Given the description of an element on the screen output the (x, y) to click on. 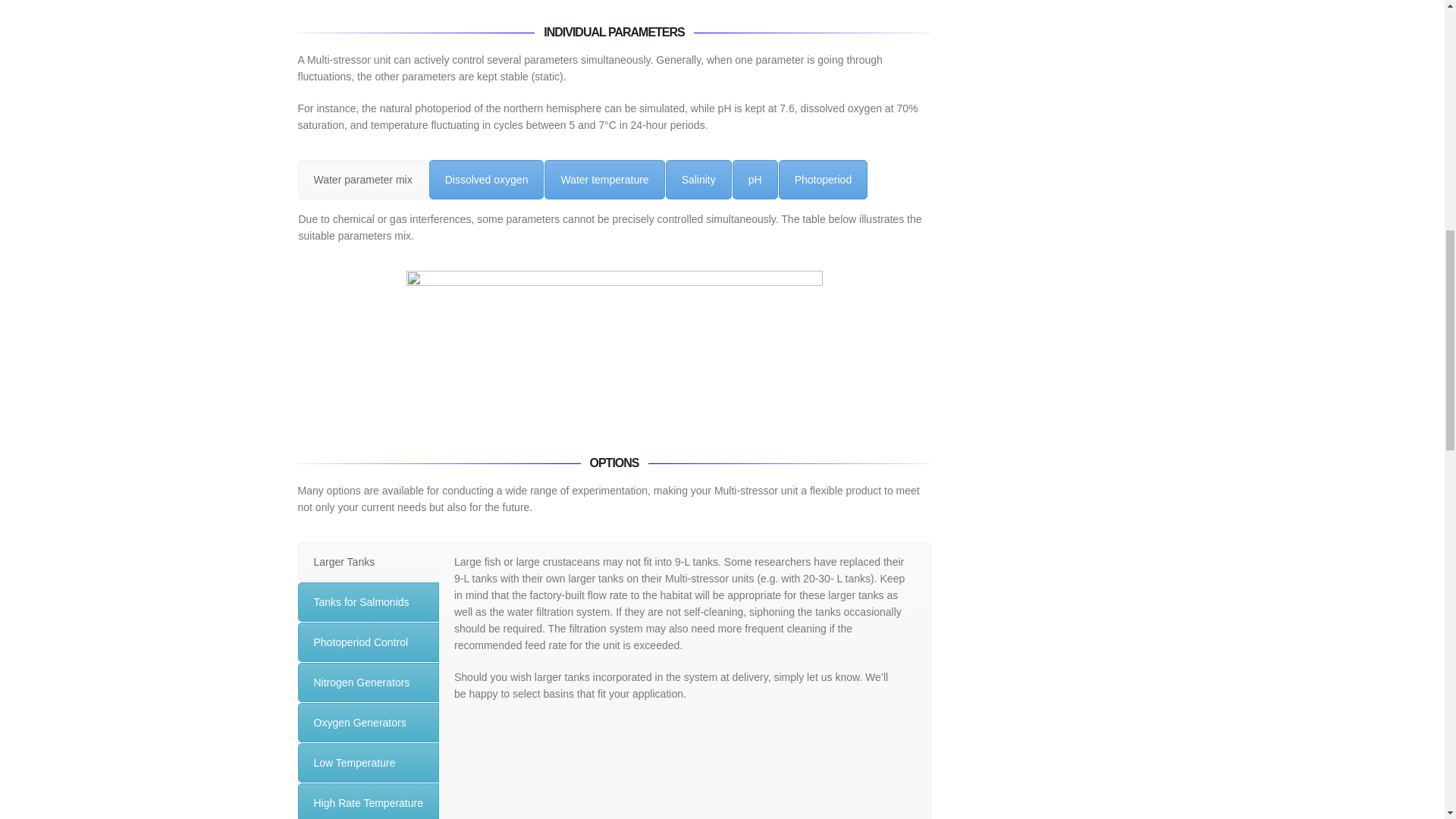
Parameters mix (614, 351)
